Given the description of an element on the screen output the (x, y) to click on. 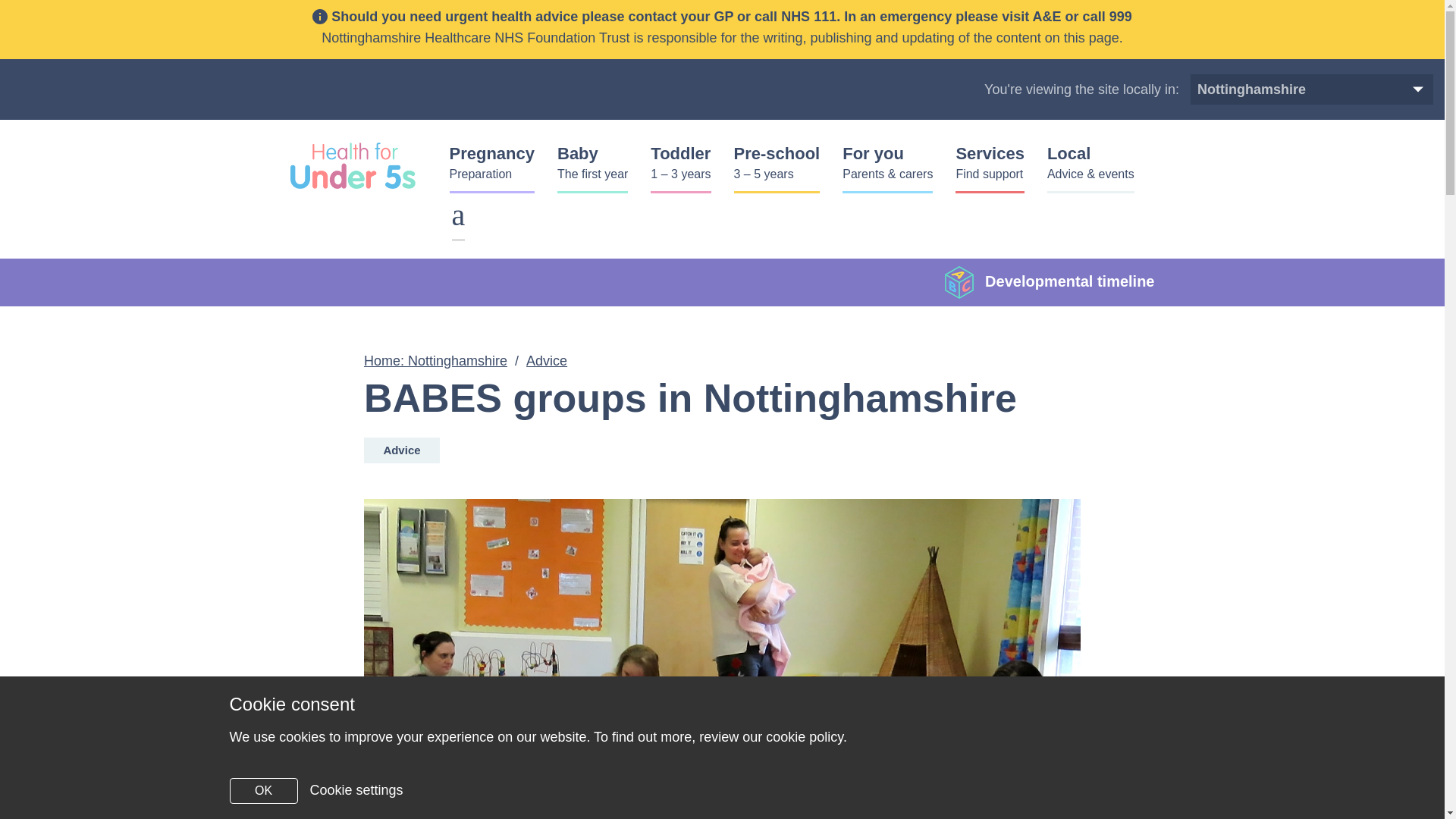
Submit local area (1365, 89)
Developmental timeline (1049, 282)
Submit local area (592, 167)
Advice (1365, 89)
Home: Nottinghamshire (990, 167)
